Given the description of an element on the screen output the (x, y) to click on. 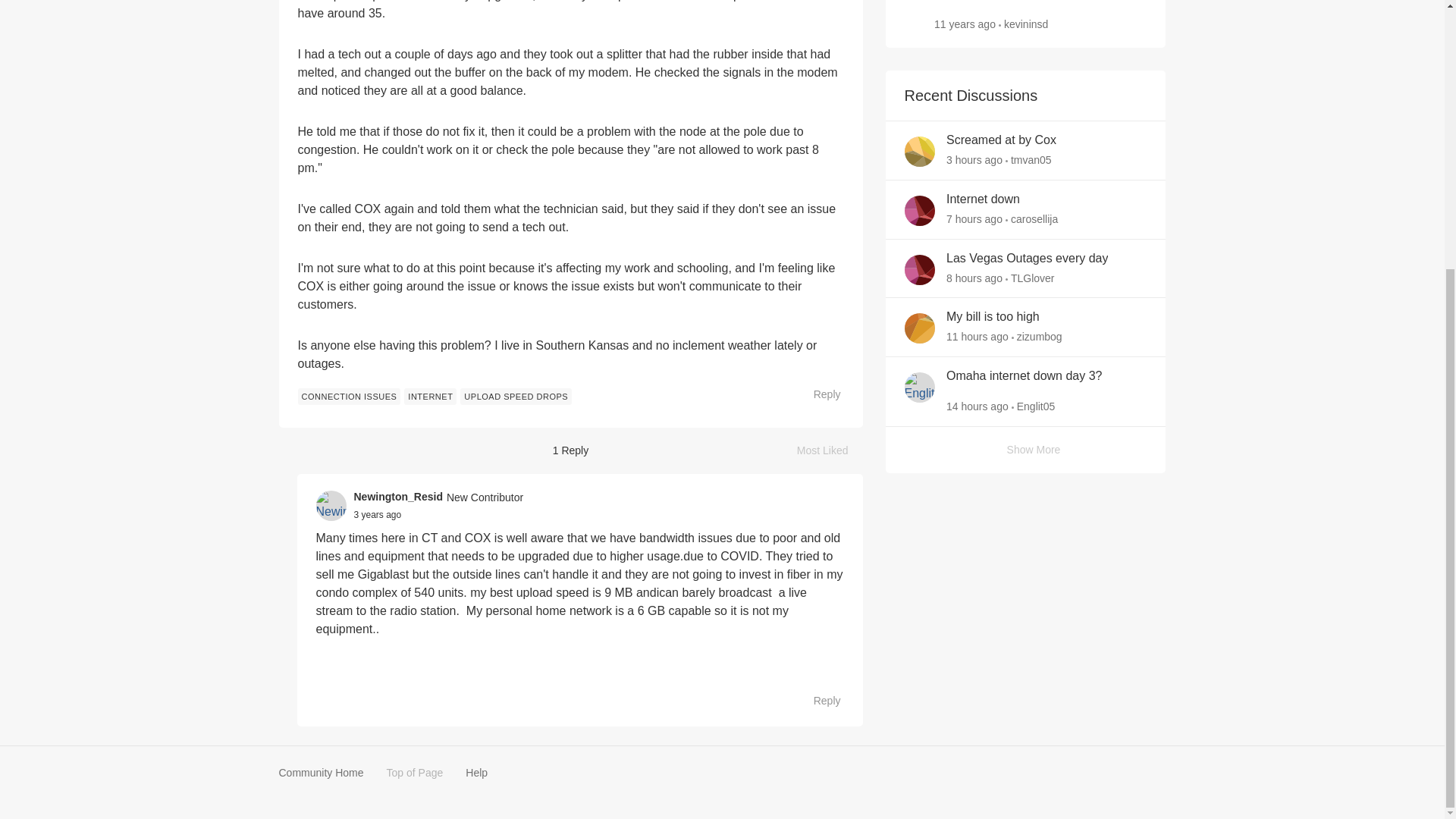
UPLOAD SPEED DROPS (516, 396)
3 years ago (377, 514)
Reply (819, 701)
Screamed at by Cox (1001, 140)
August 2, 2024 at 6:26 PM (974, 277)
September 20, 2021 at 11:34 AM (377, 514)
CONNECTION ISSUES (348, 396)
Internet down (983, 199)
August 2, 2024 at 11:02 PM (974, 159)
My bill is too high (992, 317)
August 2, 2024 at 7:11 PM (974, 218)
INTERNET (829, 450)
May 31, 2014 at 4:57 AM (430, 396)
Slow upload speeds (964, 24)
